Given the description of an element on the screen output the (x, y) to click on. 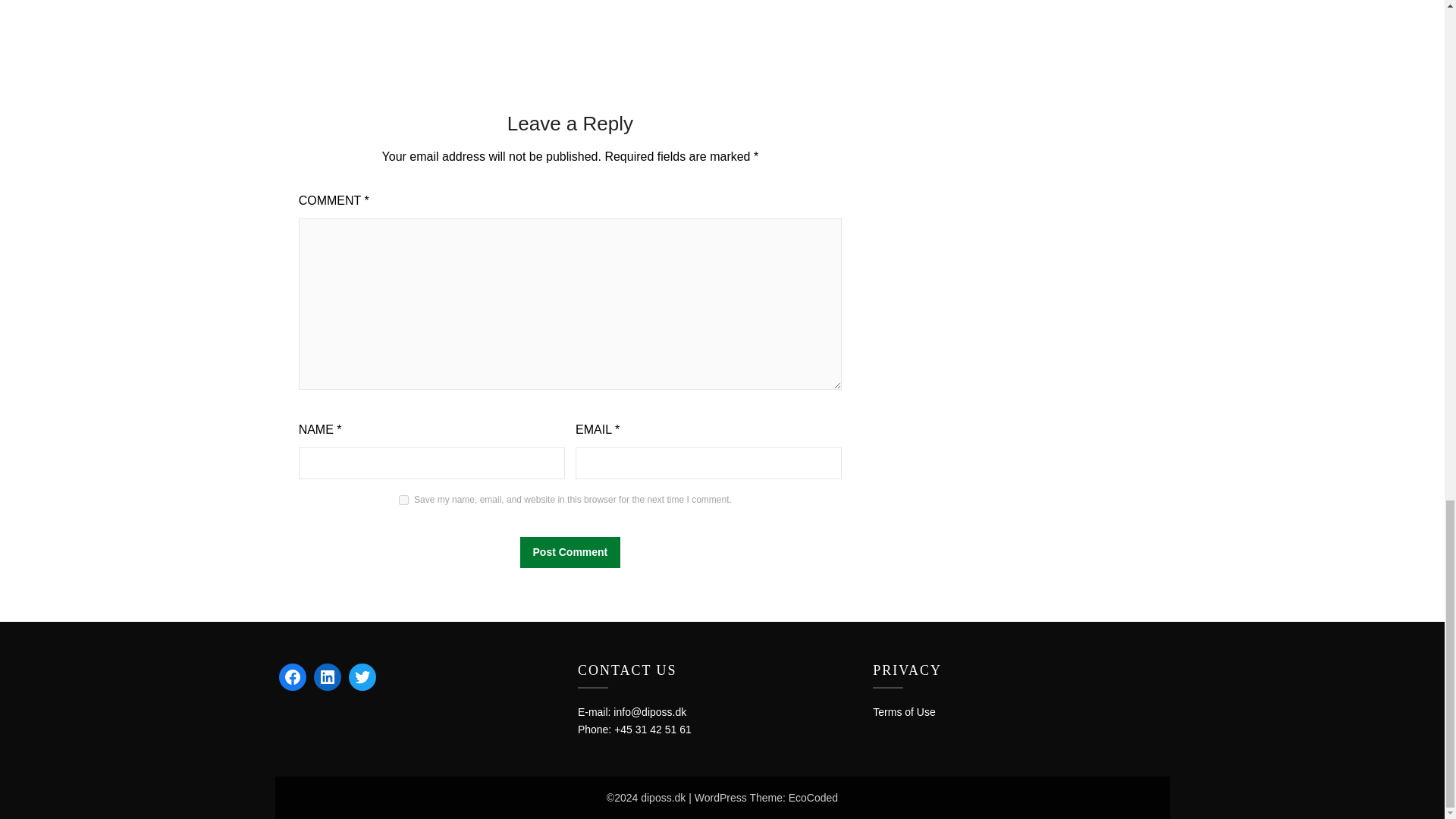
Post Comment (570, 552)
Effects of Environmental Degradation (541, 10)
EcoCoded (813, 797)
yes (403, 500)
Post Comment (570, 552)
